Given the description of an element on the screen output the (x, y) to click on. 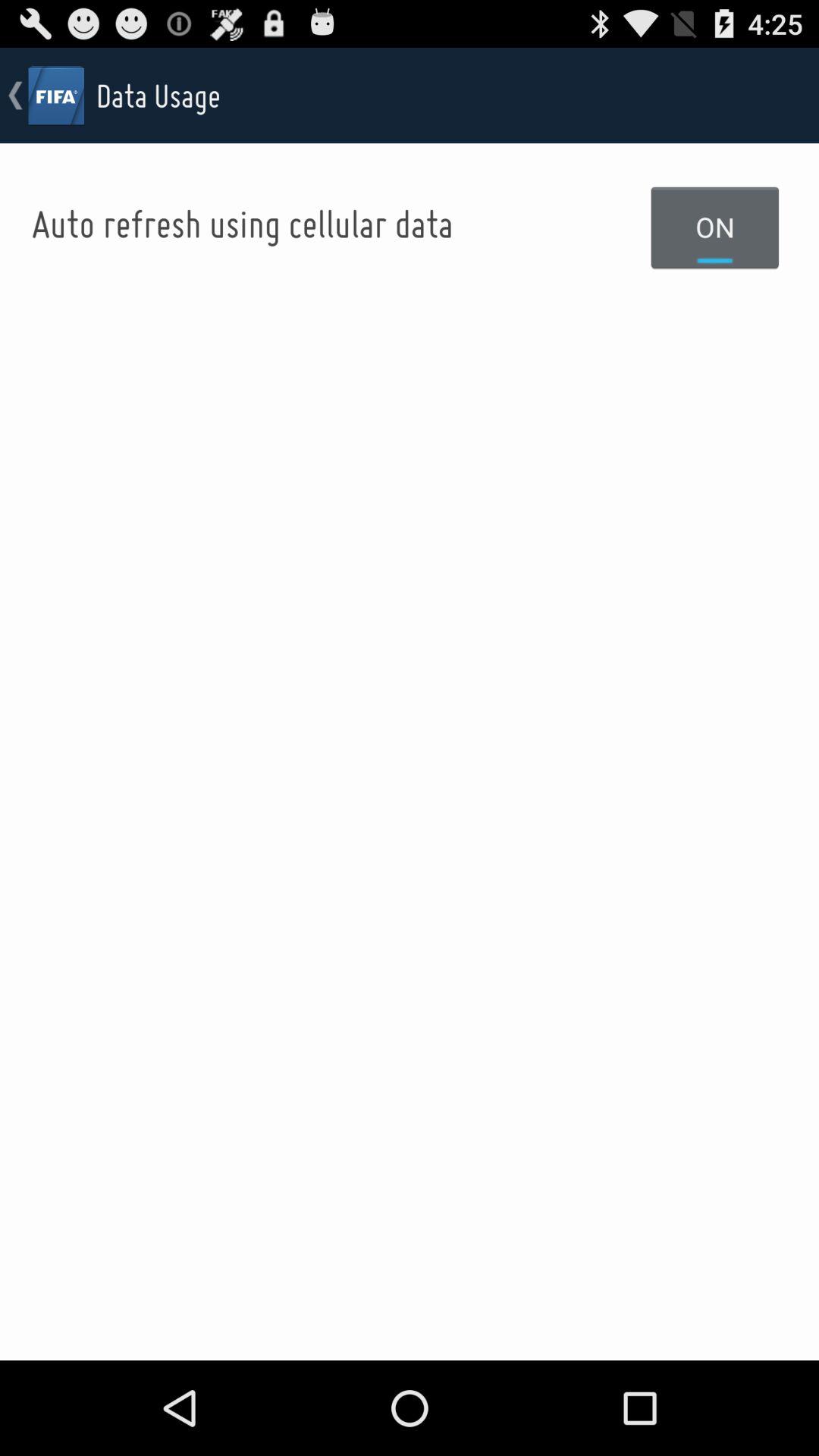
launch on item (714, 226)
